Given the description of an element on the screen output the (x, y) to click on. 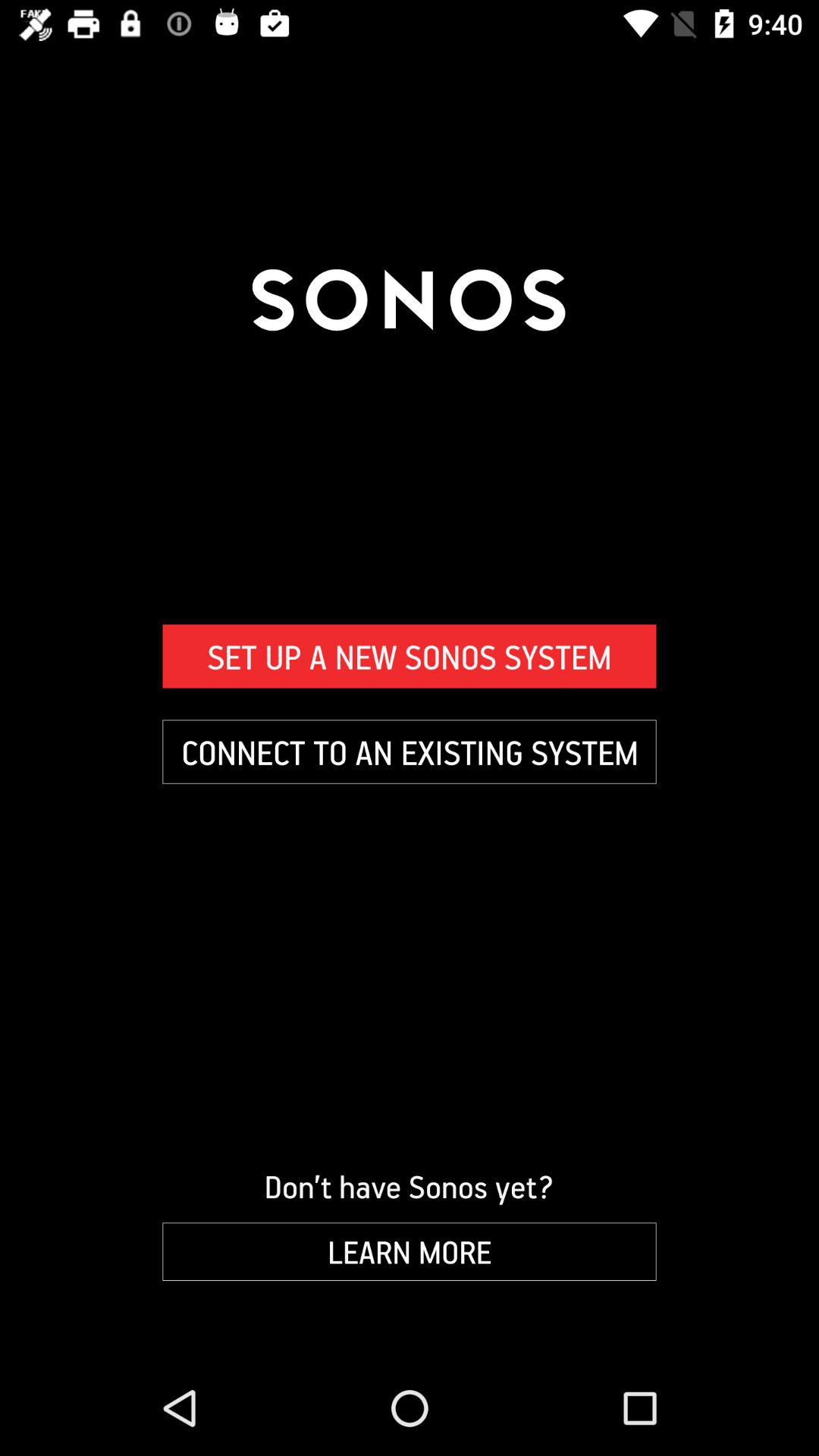
turn off the item above the connect to an icon (409, 656)
